Given the description of an element on the screen output the (x, y) to click on. 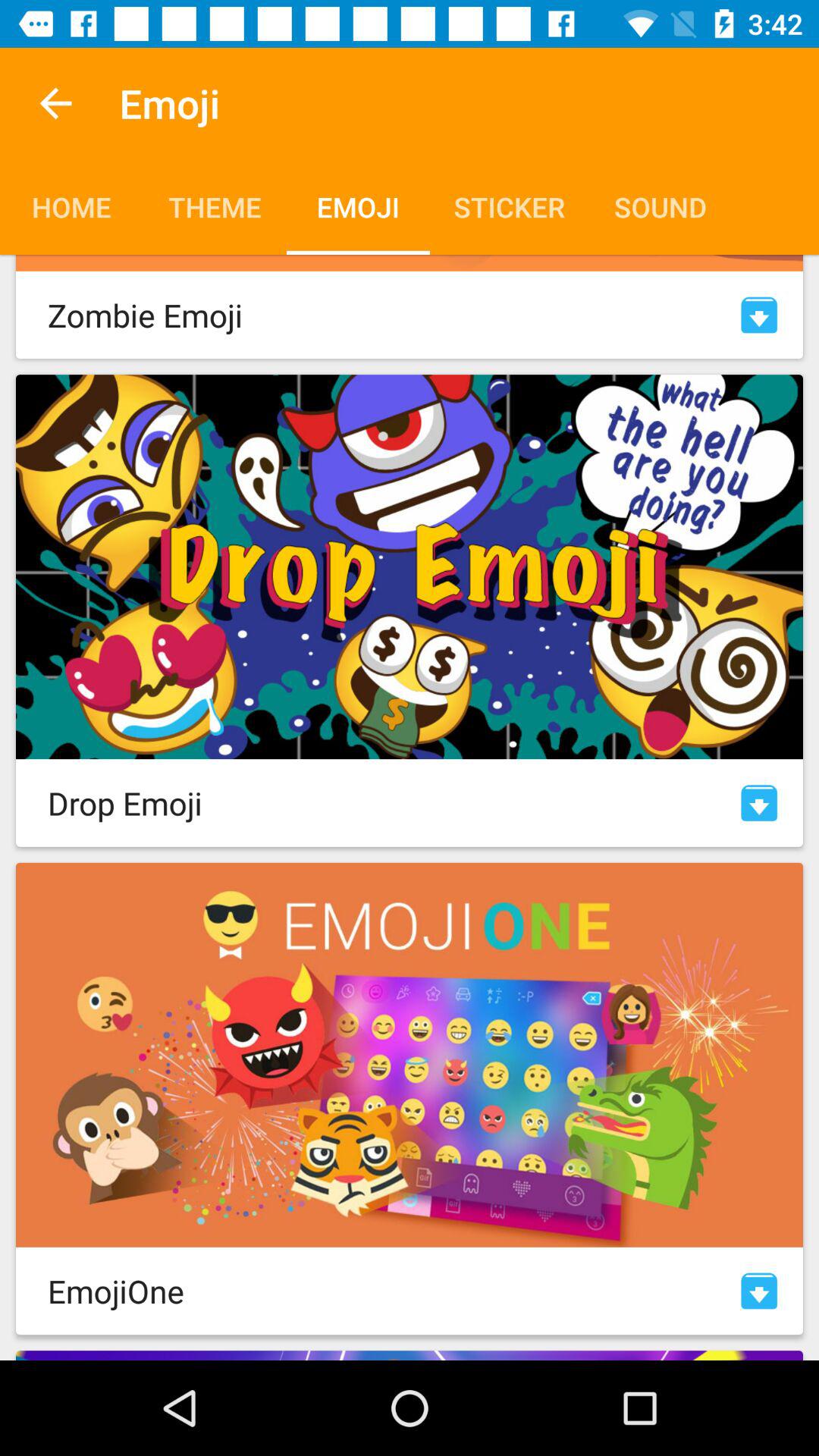
go back (55, 103)
